Given the description of an element on the screen output the (x, y) to click on. 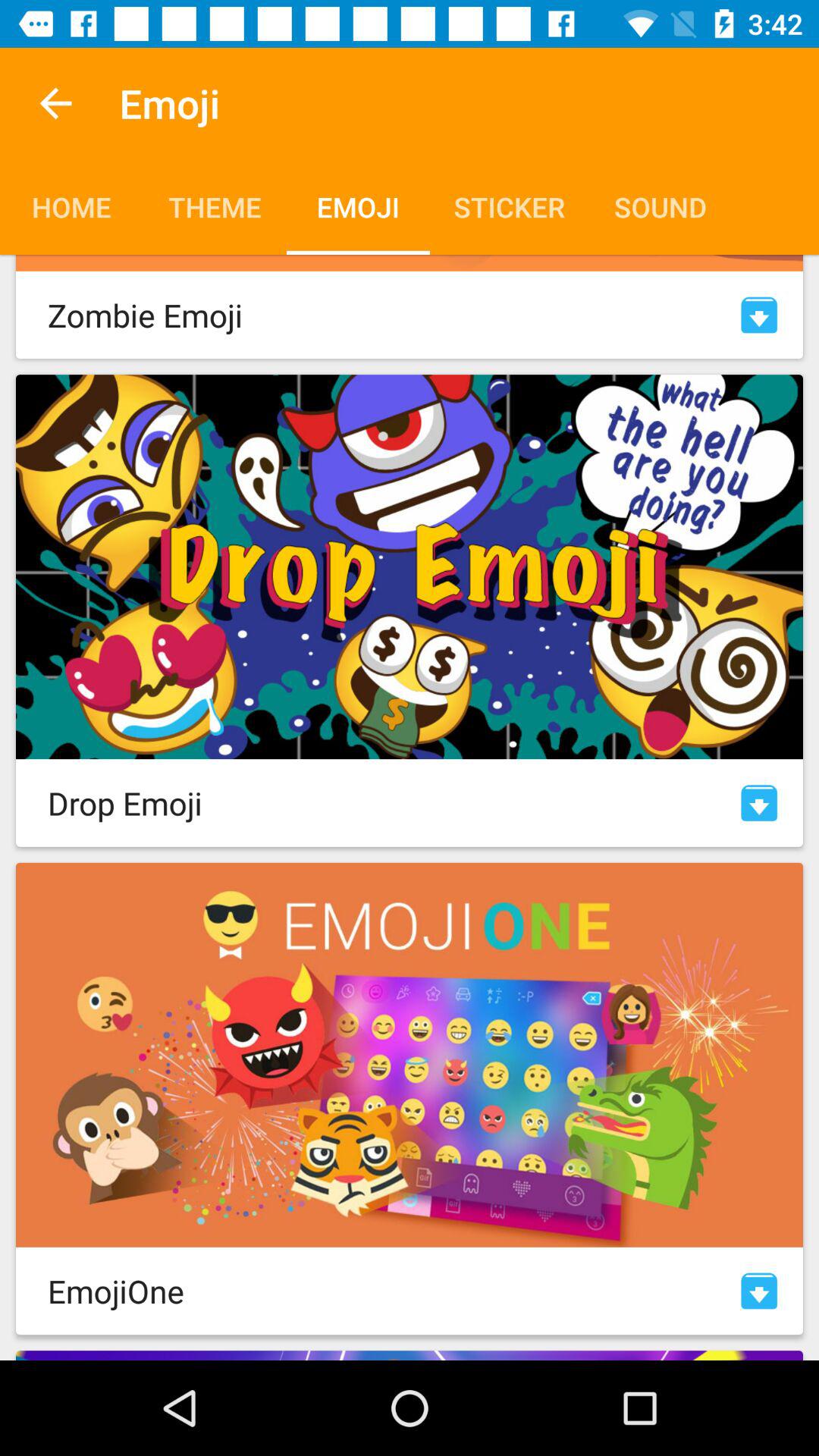
go back (55, 103)
